Given the description of an element on the screen output the (x, y) to click on. 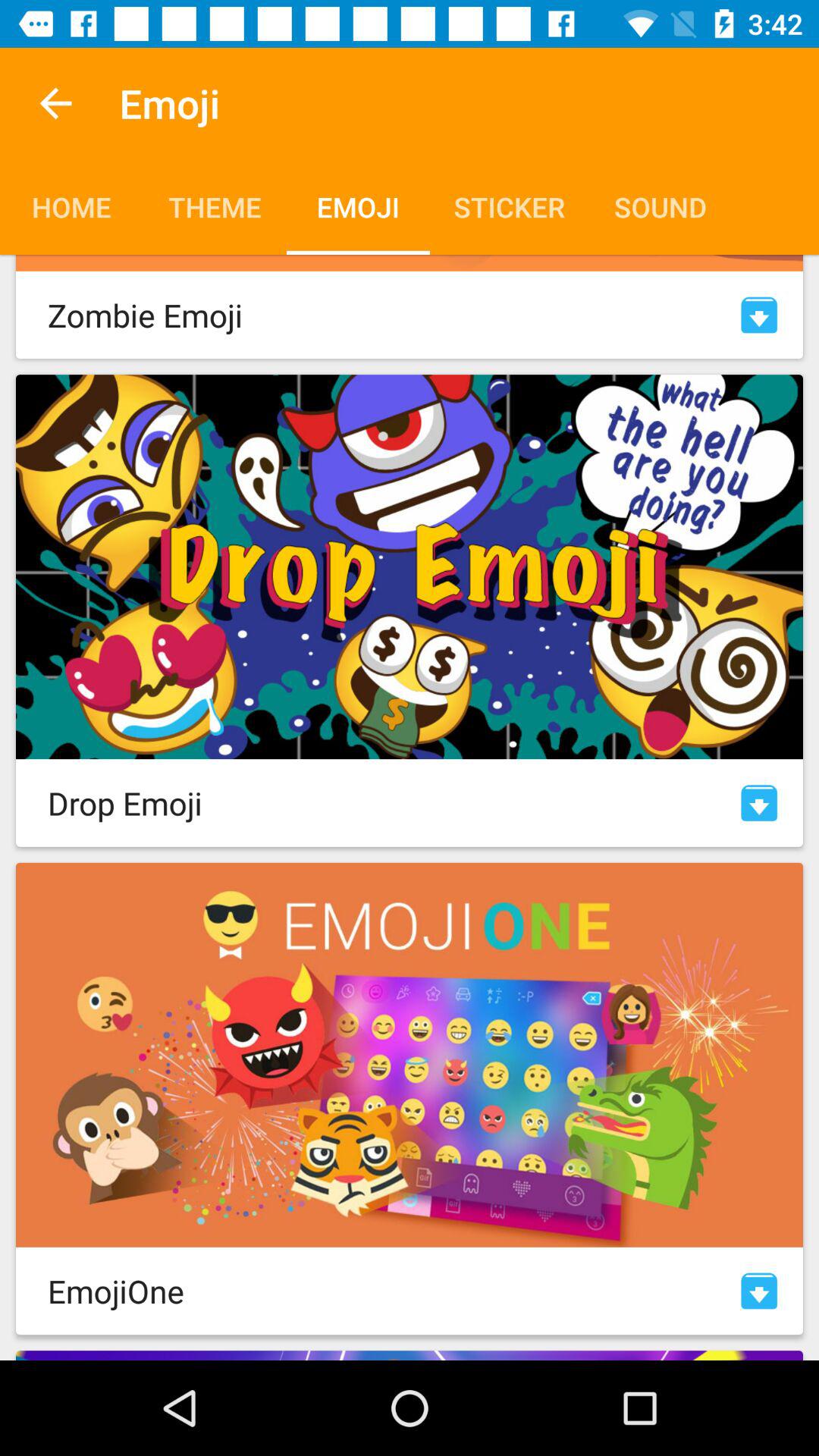
go back (55, 103)
